Given the description of an element on the screen output the (x, y) to click on. 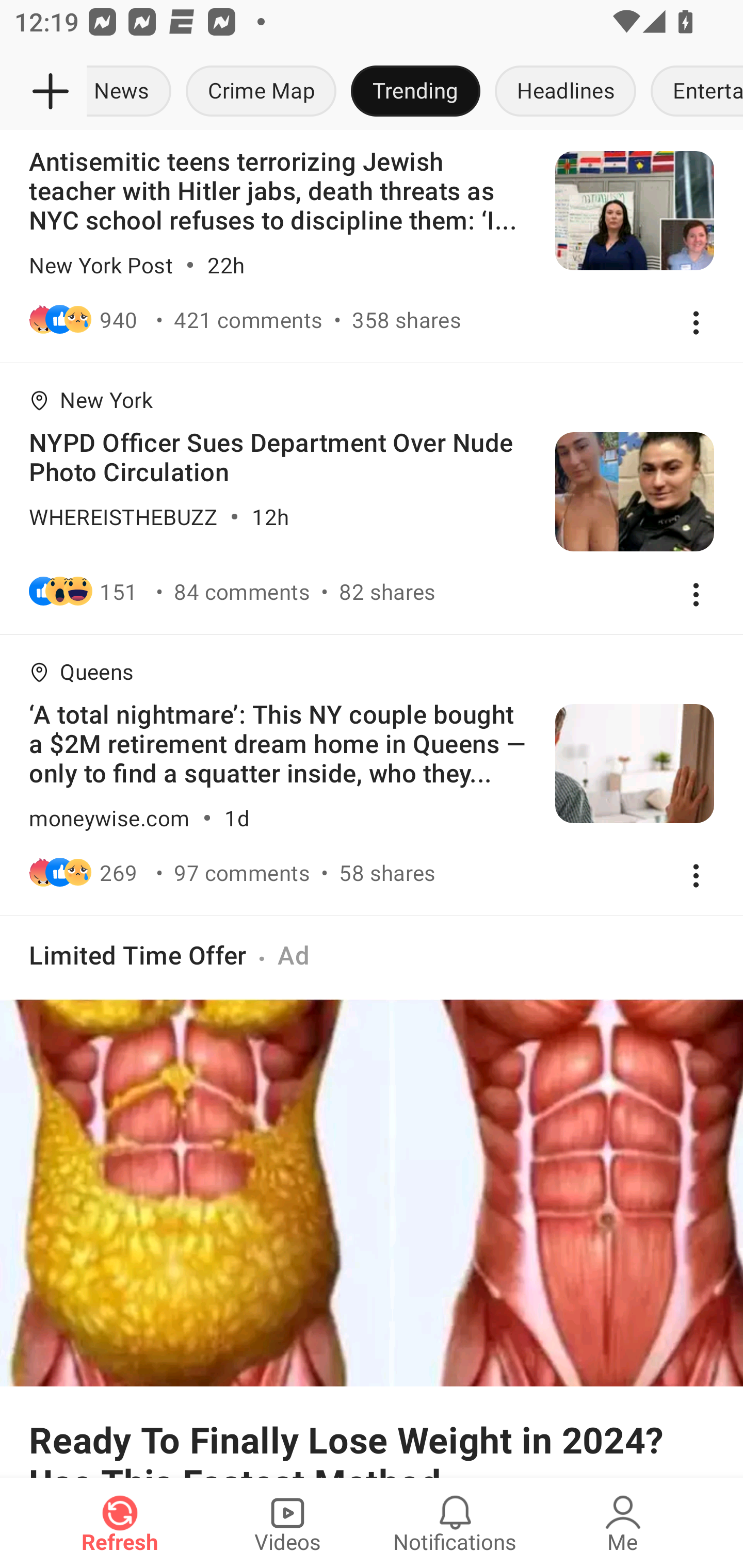
World News (132, 91)
Crime Map (260, 91)
Trending (415, 91)
Headlines (565, 91)
Limited Time Offer (137, 954)
Videos (287, 1522)
Notifications (455, 1522)
Me (622, 1522)
